Given the description of an element on the screen output the (x, y) to click on. 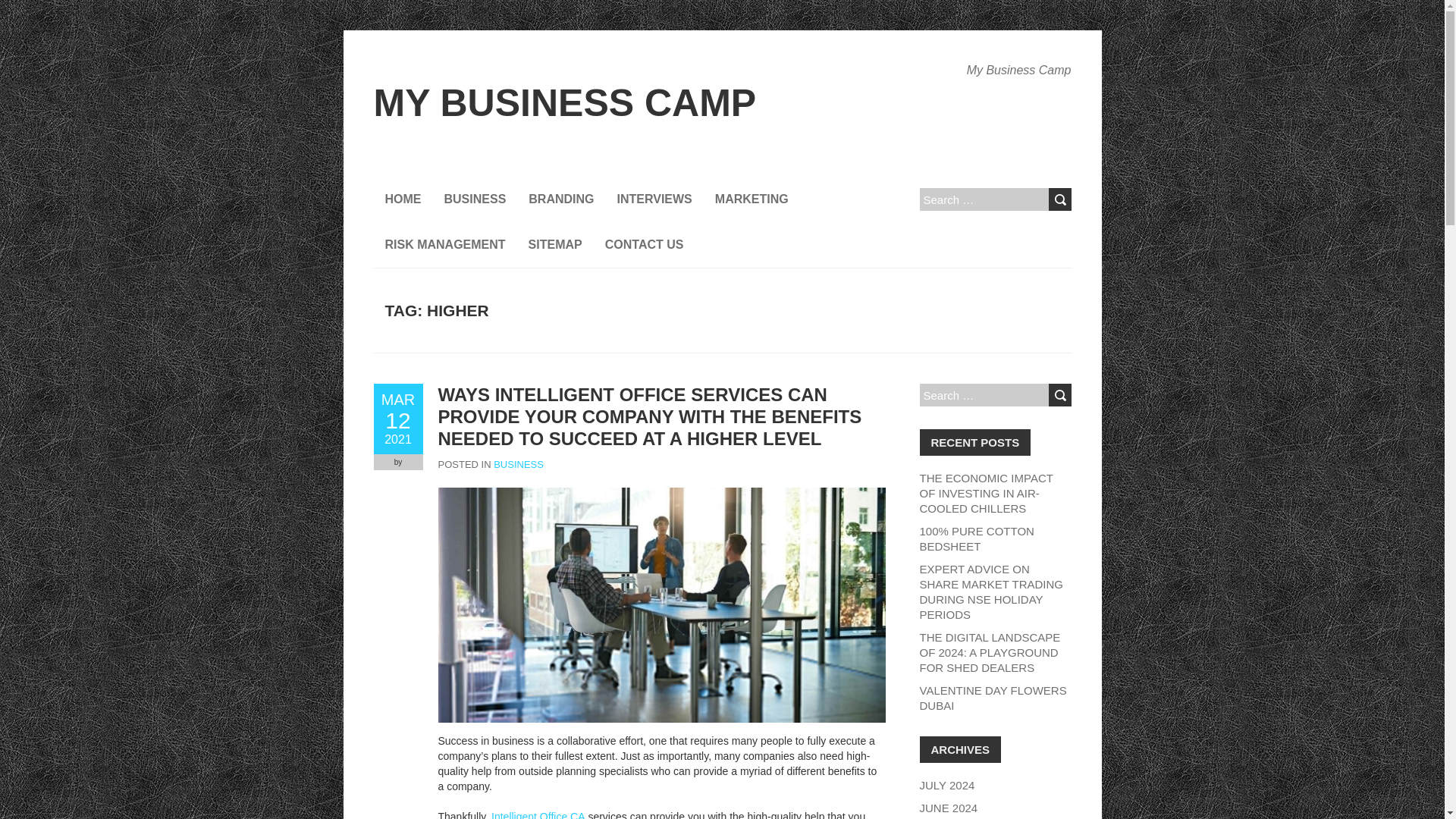
Search (1059, 395)
Search (1059, 395)
Search (1059, 199)
Search (1059, 199)
THE ECONOMIC IMPACT OF INVESTING IN AIR-COOLED CHILLERS (985, 493)
HOME (402, 198)
BRANDING (560, 198)
CONTACT US (644, 244)
Intelligent Office CA (538, 814)
BUSINESS (474, 198)
MARKETING (751, 198)
MY BUSINESS CAMP (563, 102)
SITEMAP (555, 244)
